Given the description of an element on the screen output the (x, y) to click on. 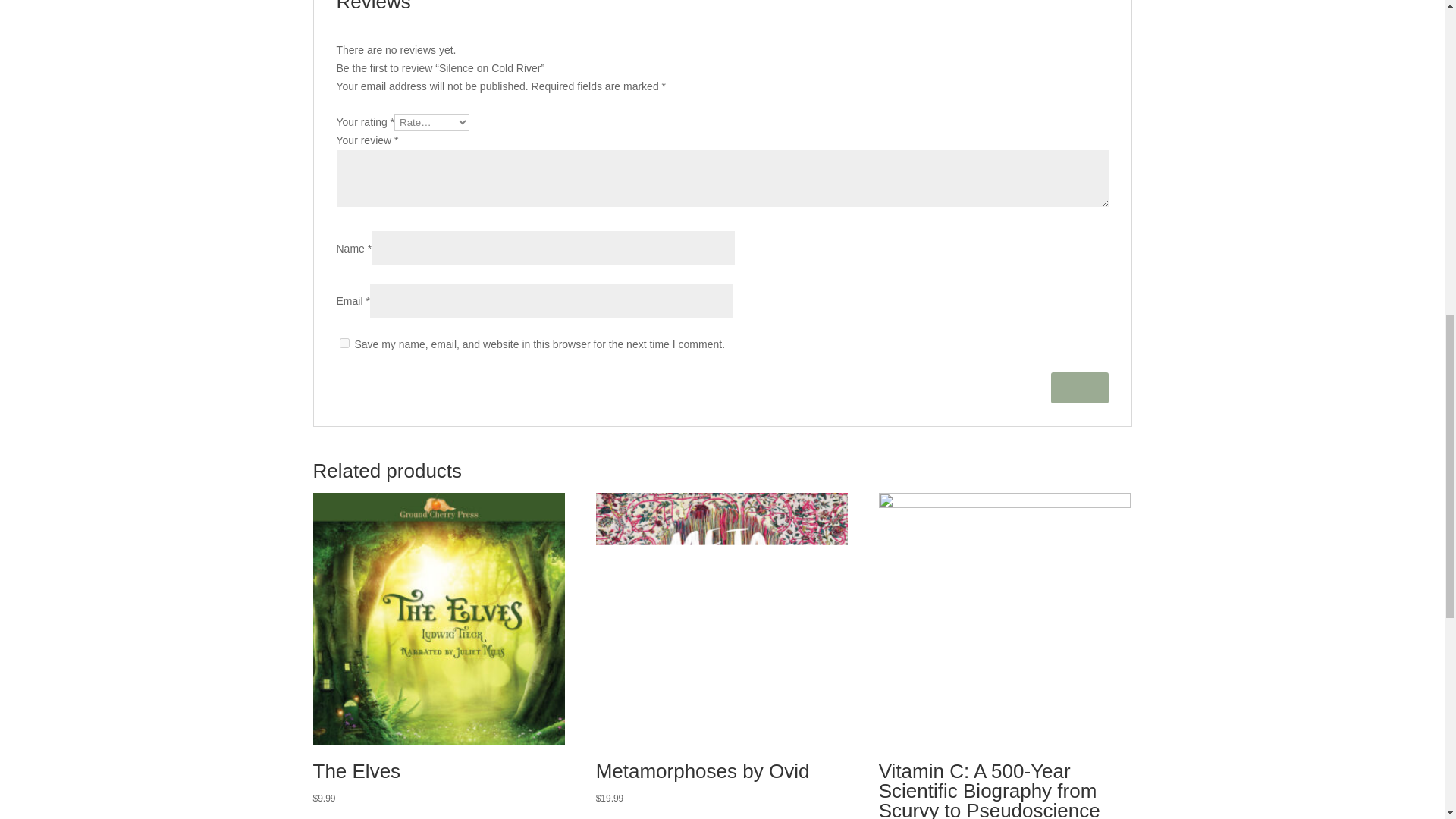
yes (344, 343)
Submit (1079, 387)
Submit (1079, 387)
